Given the description of an element on the screen output the (x, y) to click on. 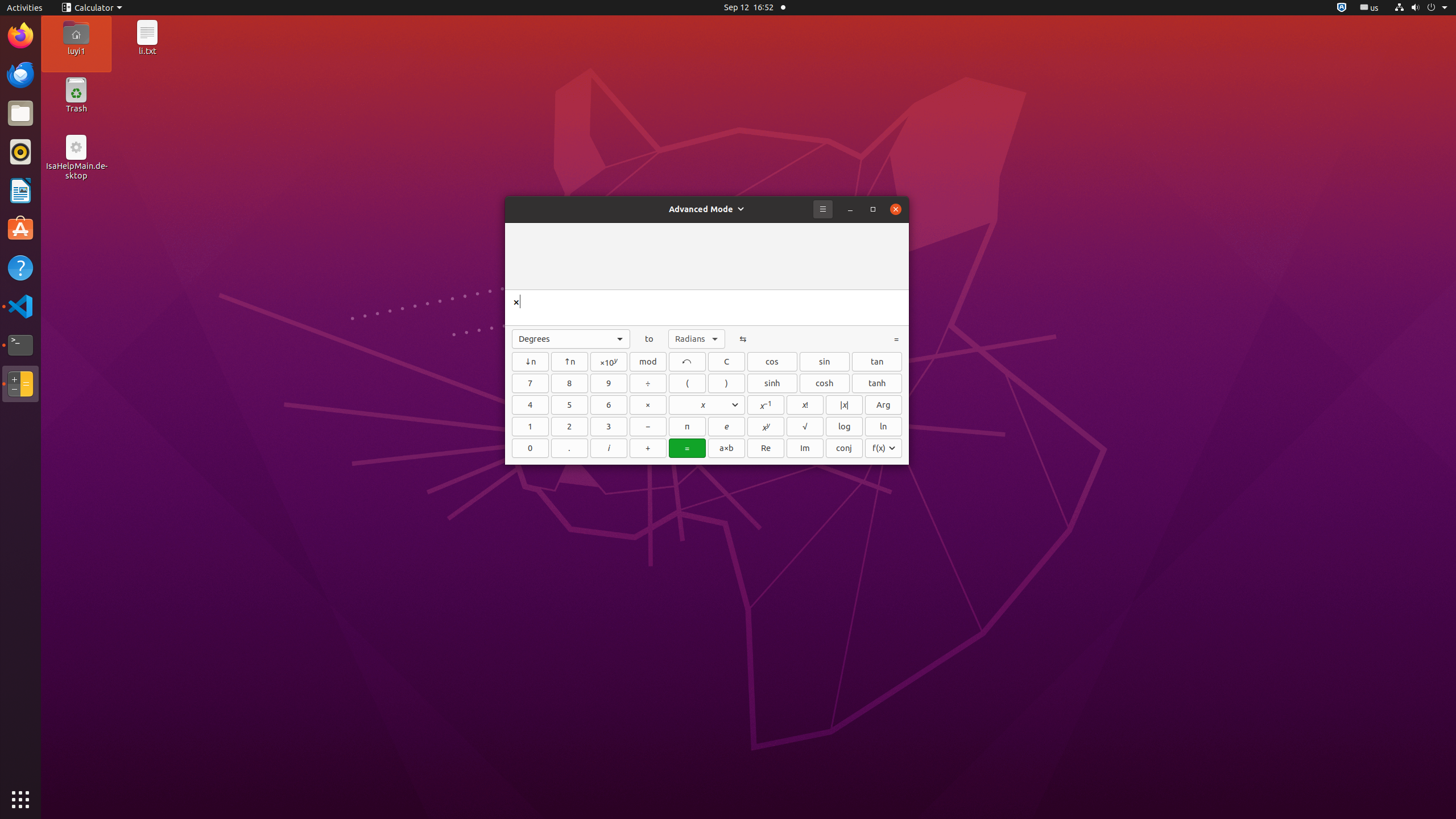
cosh Element type: push-button (824, 383)
Minimize Element type: push-button (849, 208)
3 Element type: push-button (608, 426)
Primary menu Element type: toggle-button (822, 209)
4 Element type: push-button (529, 404)
